Given the description of an element on the screen output the (x, y) to click on. 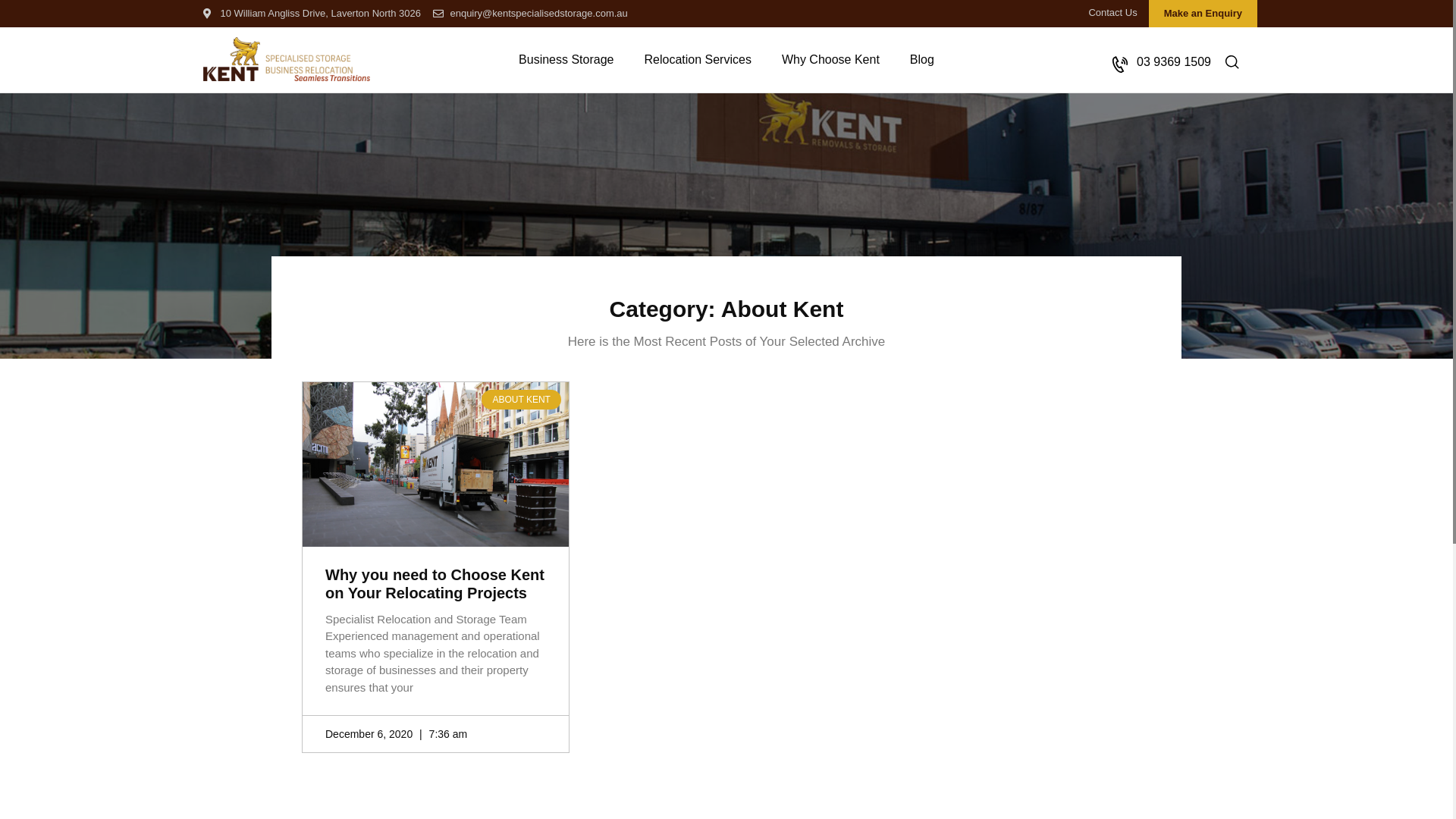
Blog Element type: text (921, 59)
Why you need to Choose Kent on Your Relocating Projects Element type: text (434, 583)
03 9369 1509 Element type: text (1161, 62)
enquiry@kentspecialisedstorage.com.au Element type: text (530, 13)
Business Storage Element type: text (565, 59)
Why Choose Kent Element type: text (830, 59)
Make an Enquiry Element type: text (1202, 13)
Relocation Services Element type: text (696, 59)
Contact Us Element type: text (1112, 12)
10 William Angliss Drive, Laverton North 3026 Element type: text (311, 13)
